Given the description of an element on the screen output the (x, y) to click on. 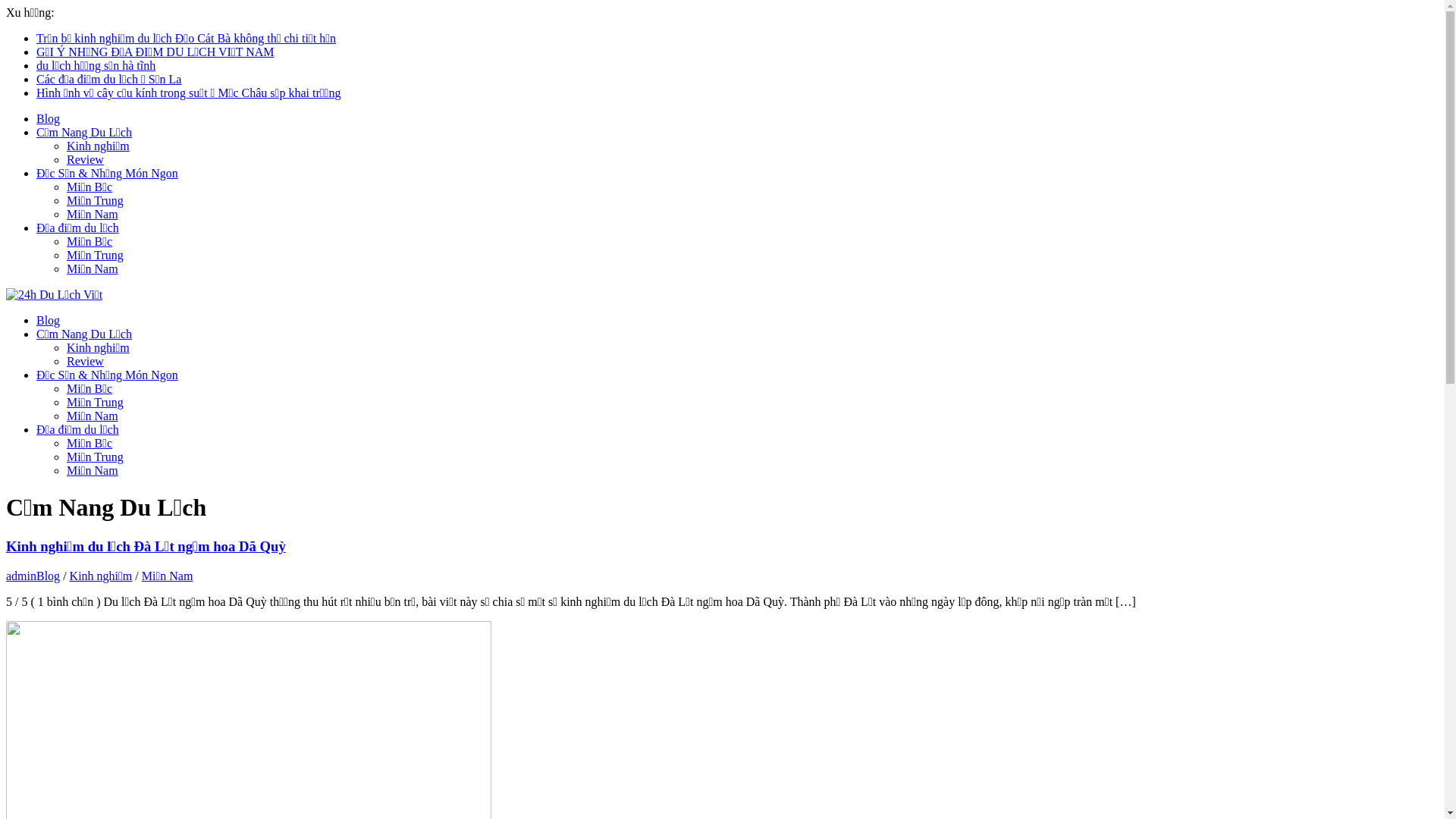
admin Element type: text (21, 575)
Review Element type: text (84, 360)
Review Element type: text (84, 159)
Blog Element type: text (47, 319)
Blog Element type: text (47, 118)
Blog Element type: text (47, 575)
